Given the description of an element on the screen output the (x, y) to click on. 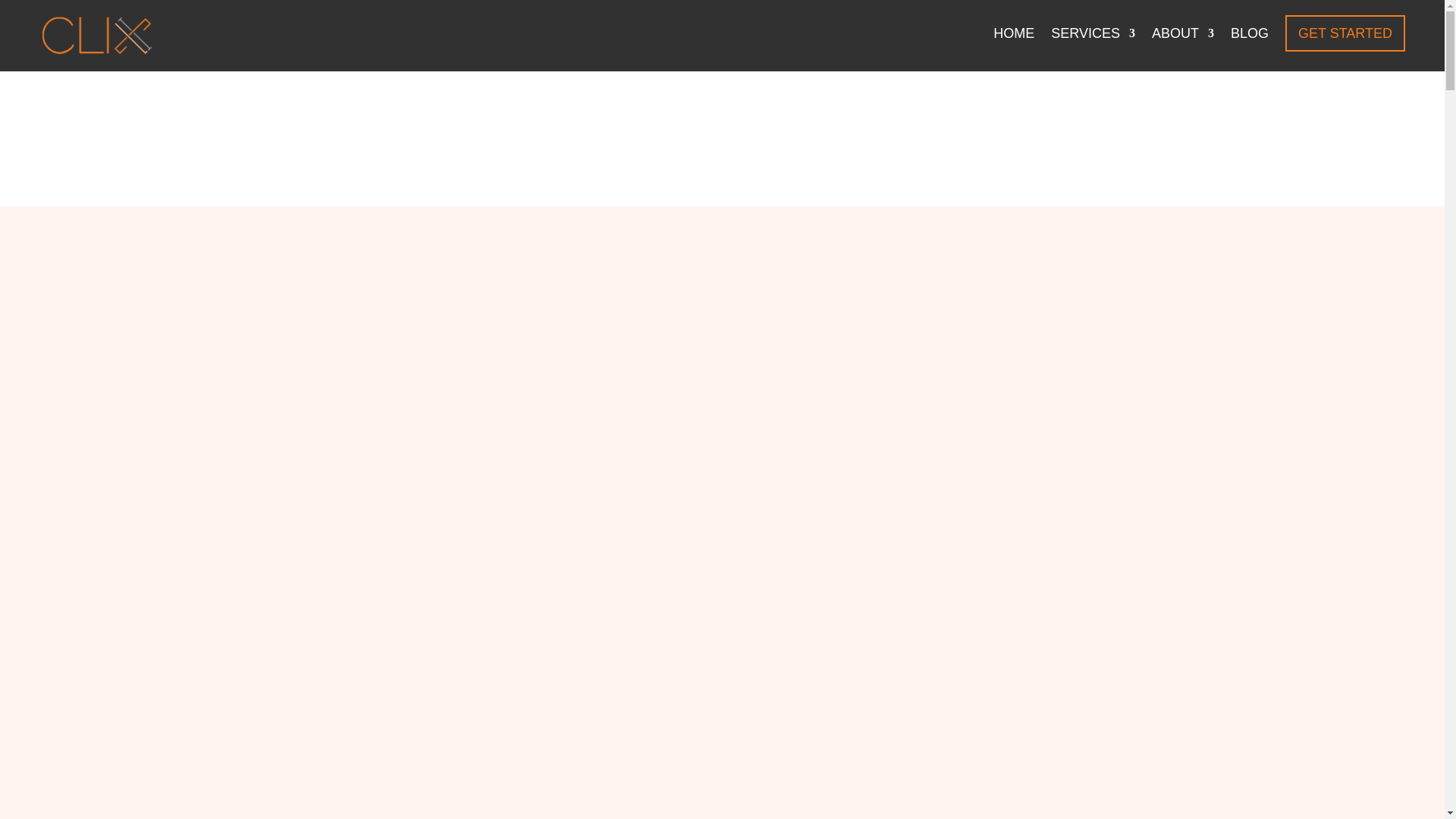
SERVICES (1093, 45)
GET STARTED (1345, 33)
HOME (1012, 45)
ABOUT (1182, 45)
BLOG (1249, 45)
